Given the description of an element on the screen output the (x, y) to click on. 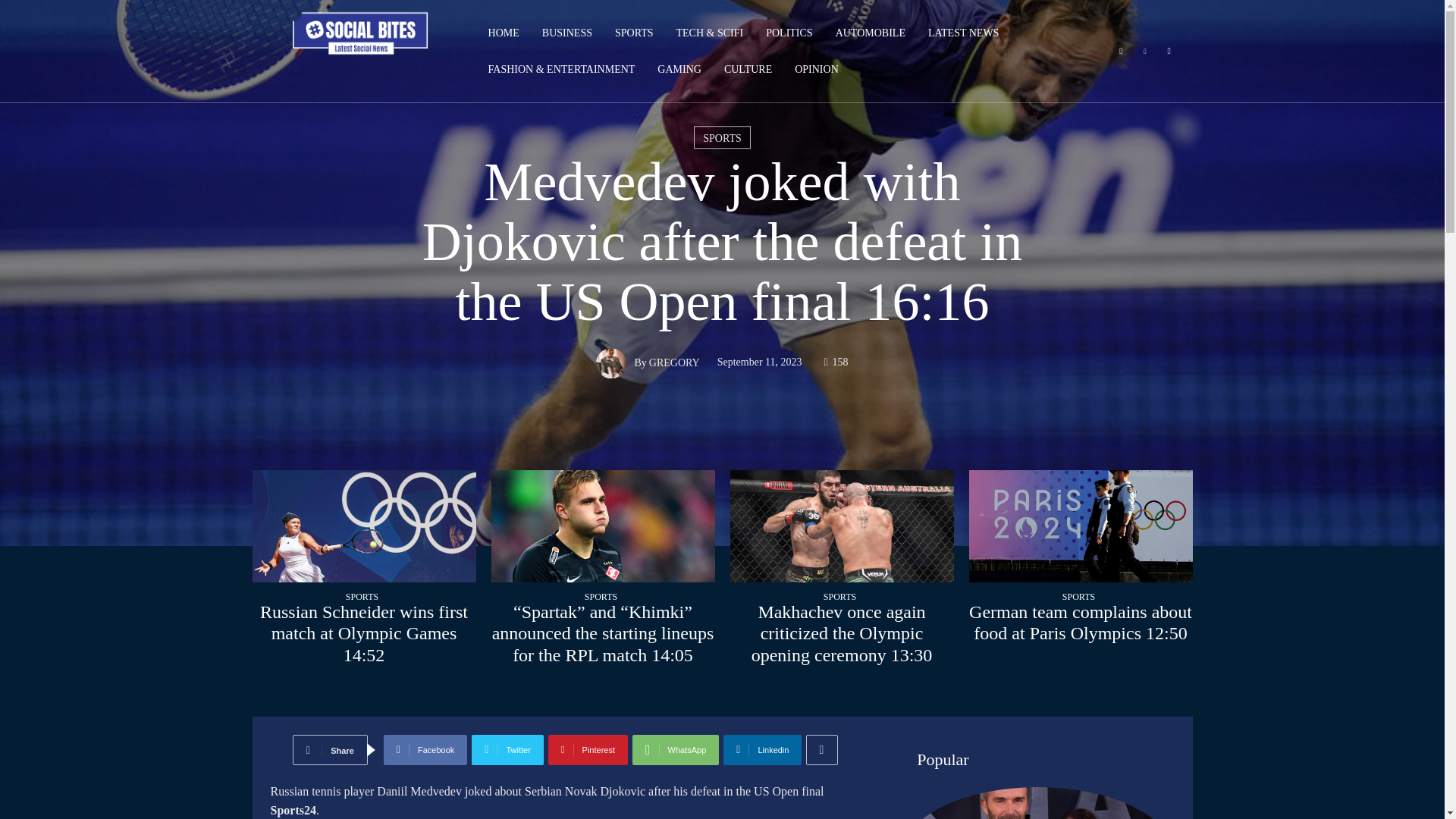
Russian Schneider wins first match at Olympic Games 14:52 (363, 633)
HOME (503, 33)
OPINION (816, 69)
Russian Schneider wins first match at Olympic Games 14:52 (363, 526)
LATEST NEWS (963, 33)
Gregory (614, 363)
SPORTS (634, 33)
POLITICS (788, 33)
Pinterest (1145, 51)
BUSINESS (566, 33)
Facebook (1121, 51)
CULTURE (748, 69)
GAMING (678, 69)
Tumblr (1168, 51)
